Given the description of an element on the screen output the (x, y) to click on. 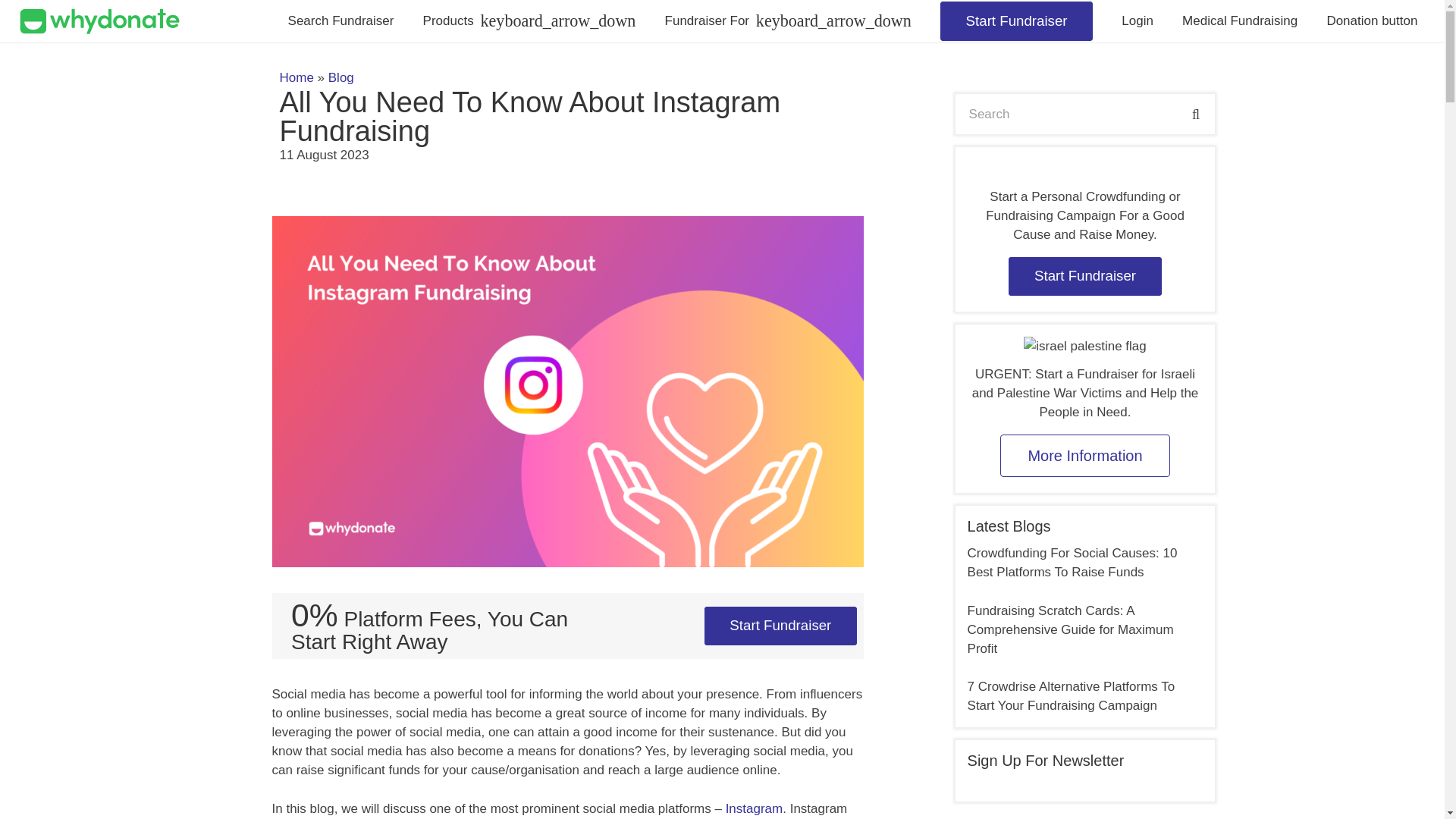
Medical Fundraising (1239, 21)
Login (1136, 21)
Home (296, 77)
Blog (341, 77)
Donation button (1372, 21)
Start Fundraiser (1016, 20)
Start Fundraiser (780, 625)
Search Fundraiser (341, 21)
Products (528, 21)
Fundraiser For (788, 21)
